Given the description of an element on the screen output the (x, y) to click on. 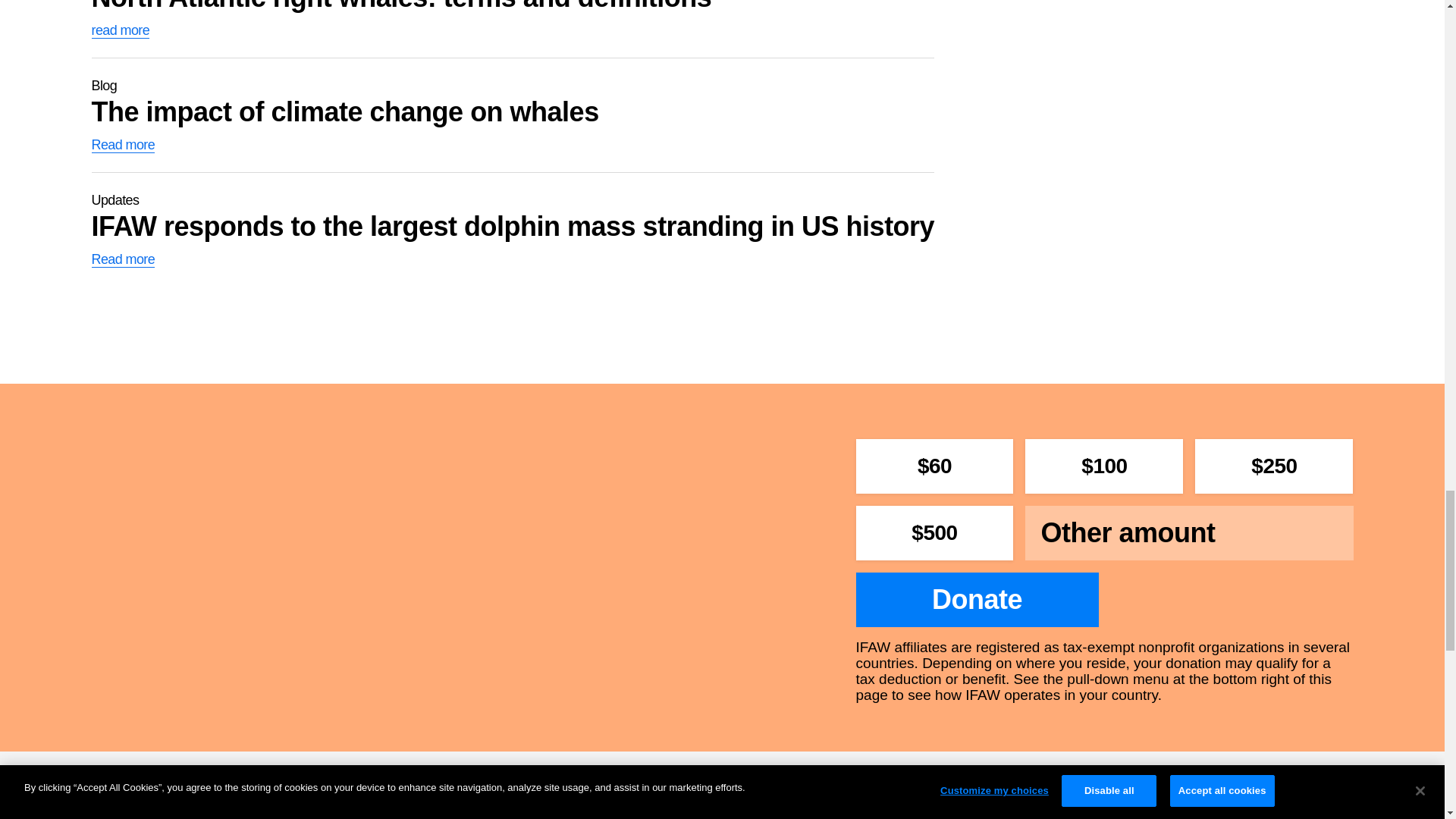
Donate (976, 599)
home (512, 114)
